Given the description of an element on the screen output the (x, y) to click on. 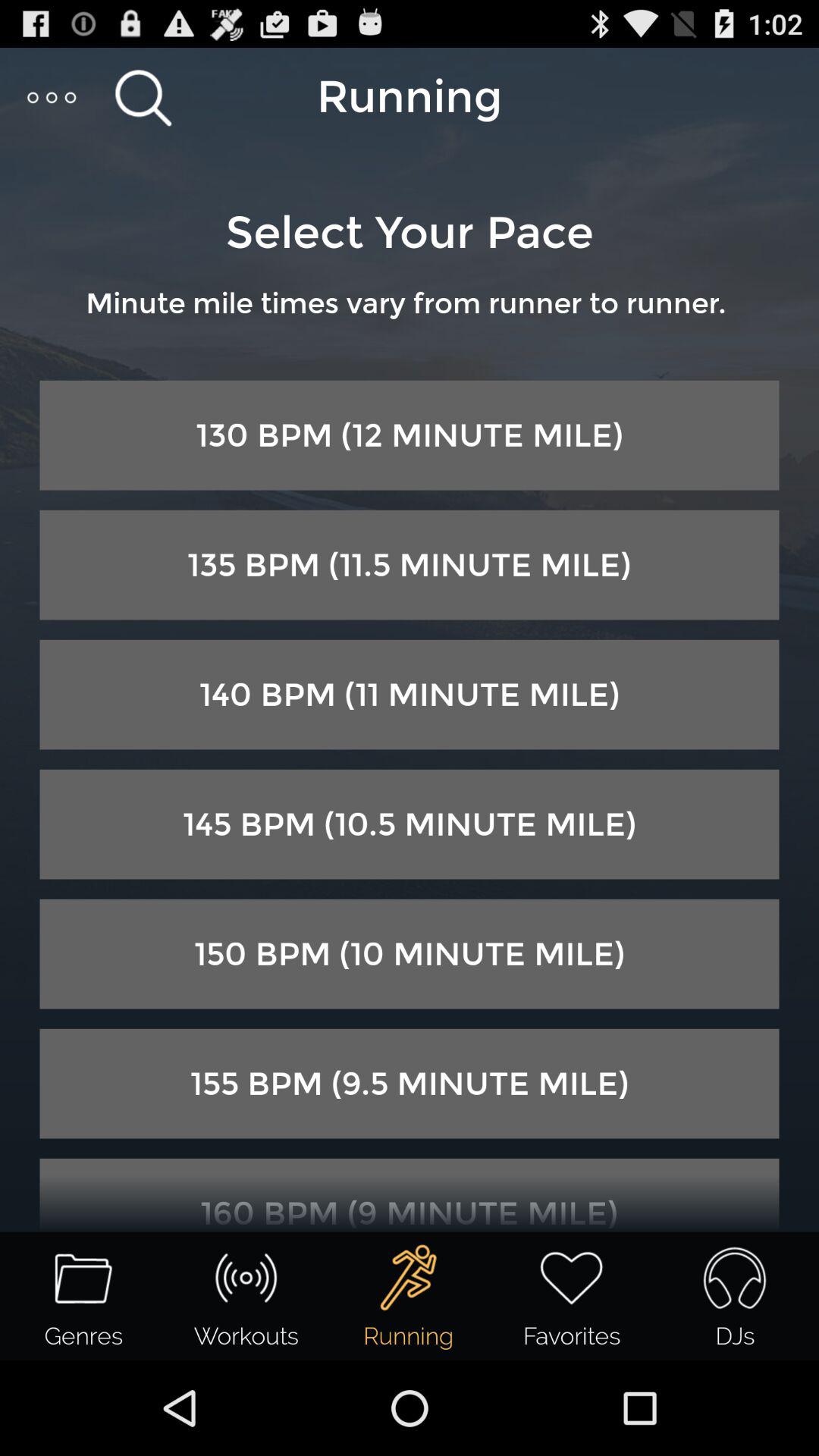
additional menu options (52, 97)
